Given the description of an element on the screen output the (x, y) to click on. 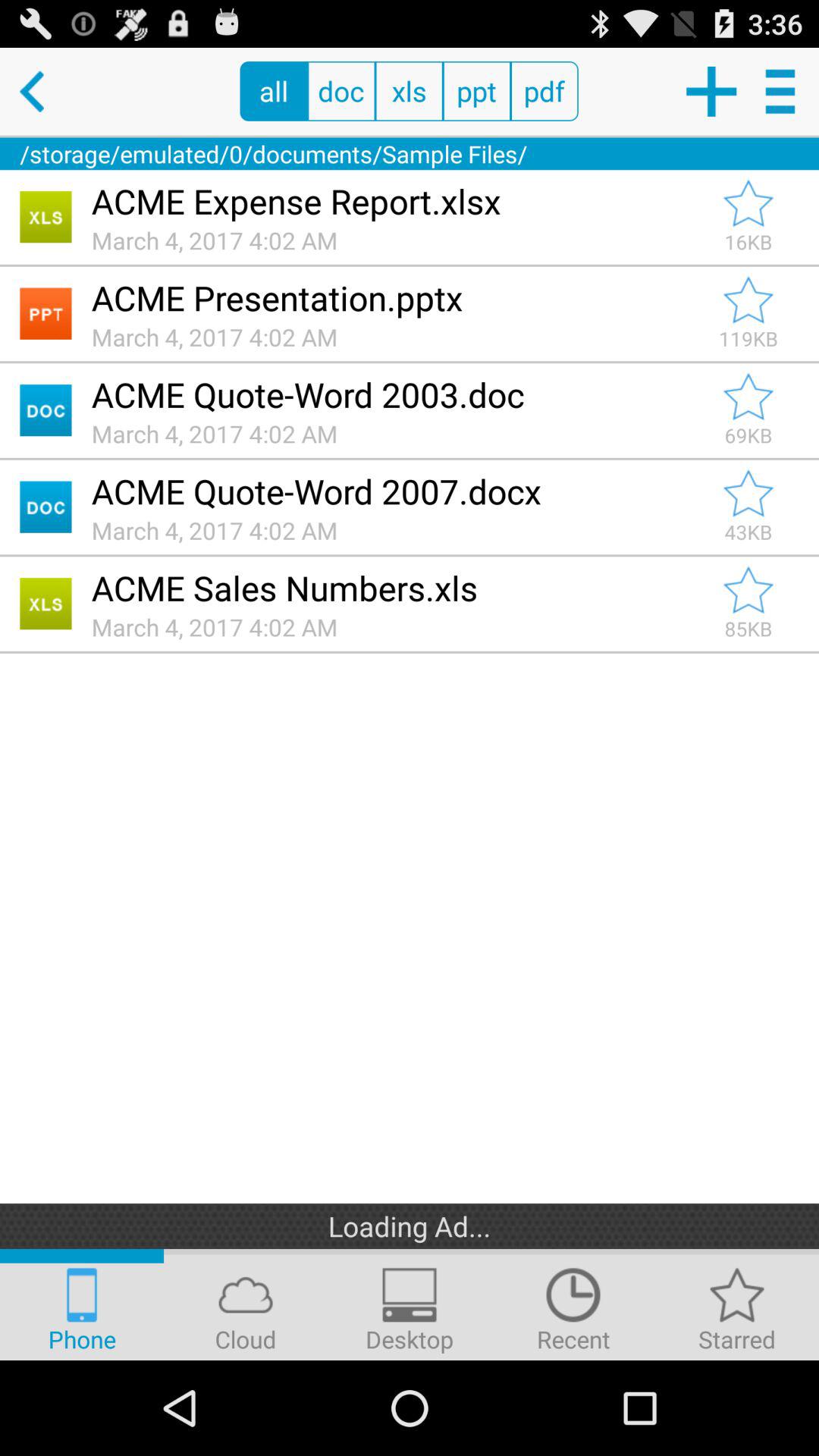
select the icon next to xls (476, 91)
